Given the description of an element on the screen output the (x, y) to click on. 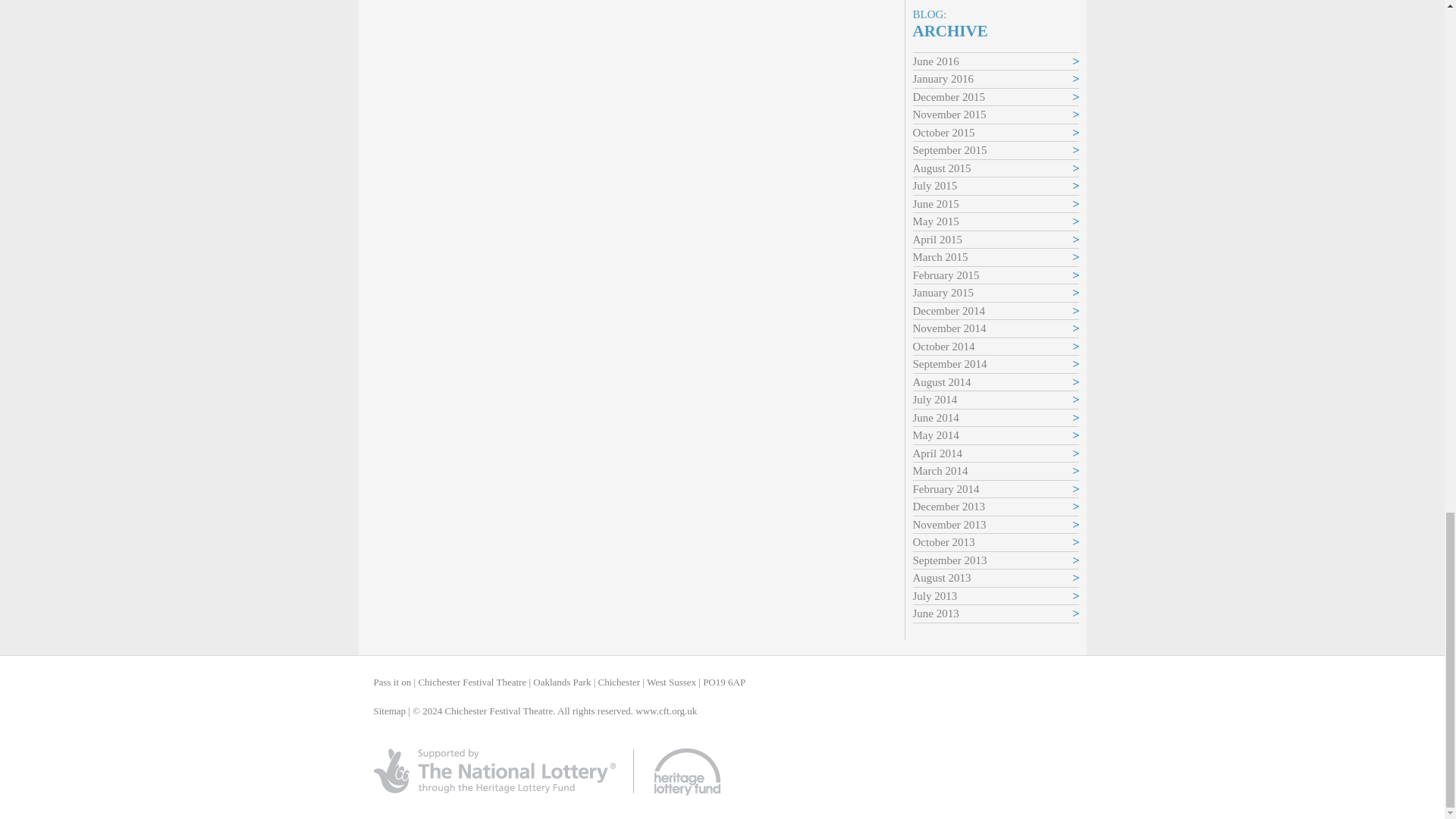
Sitemap (389, 710)
